Given the description of an element on the screen output the (x, y) to click on. 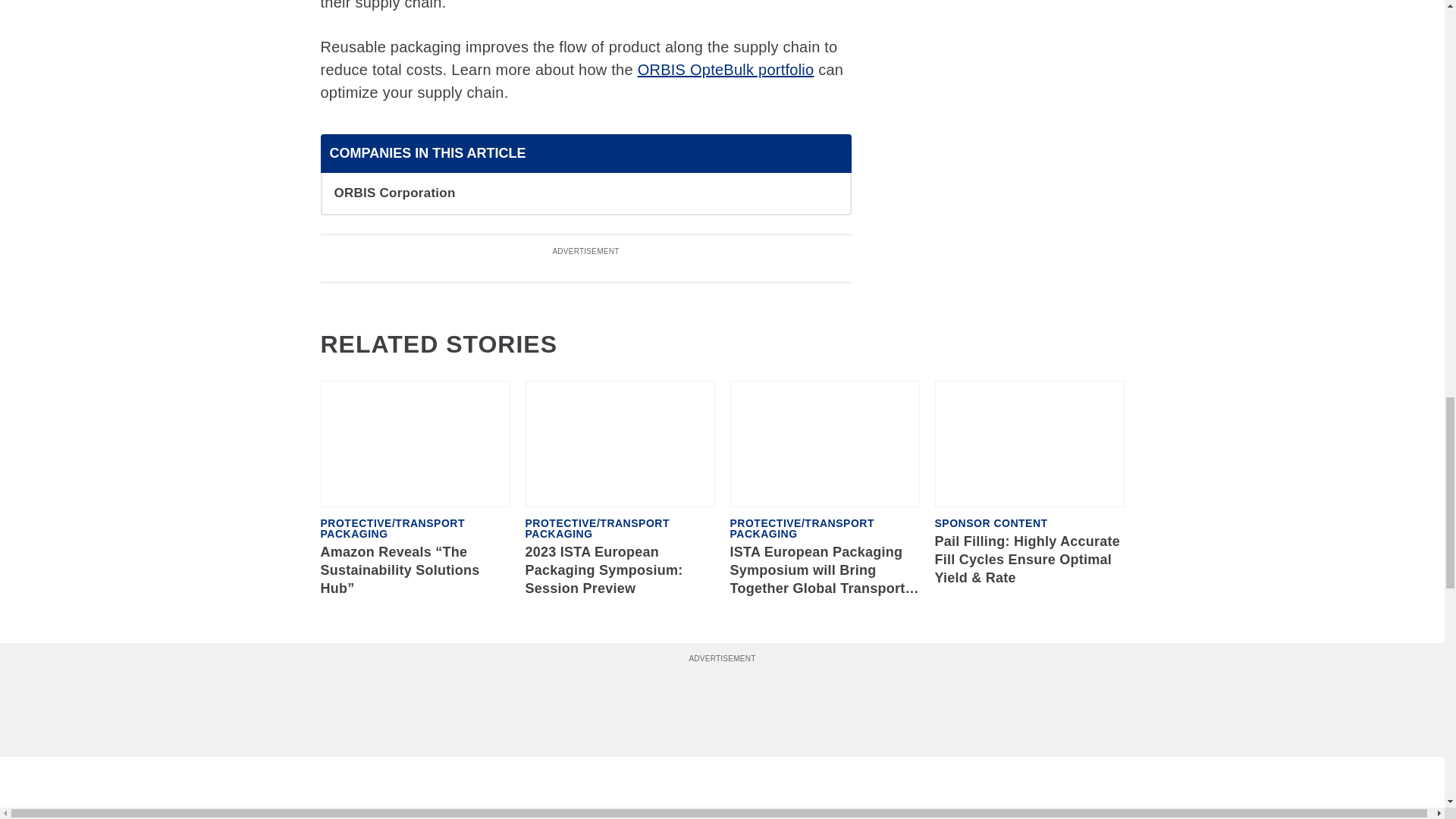
Sponsor Content (990, 522)
